Given the description of an element on the screen output the (x, y) to click on. 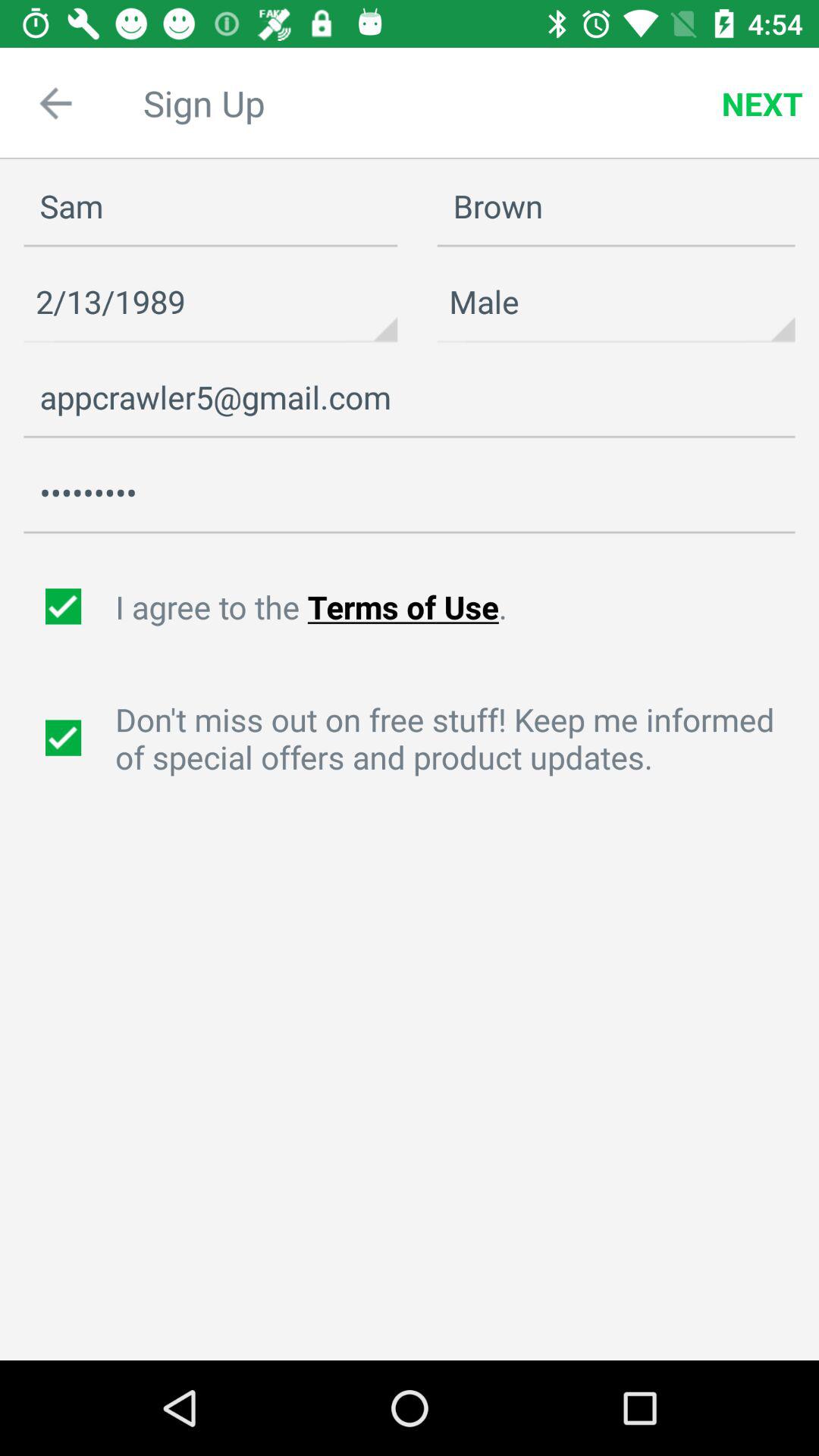
open the item below the next icon (616, 206)
